Given the description of an element on the screen output the (x, y) to click on. 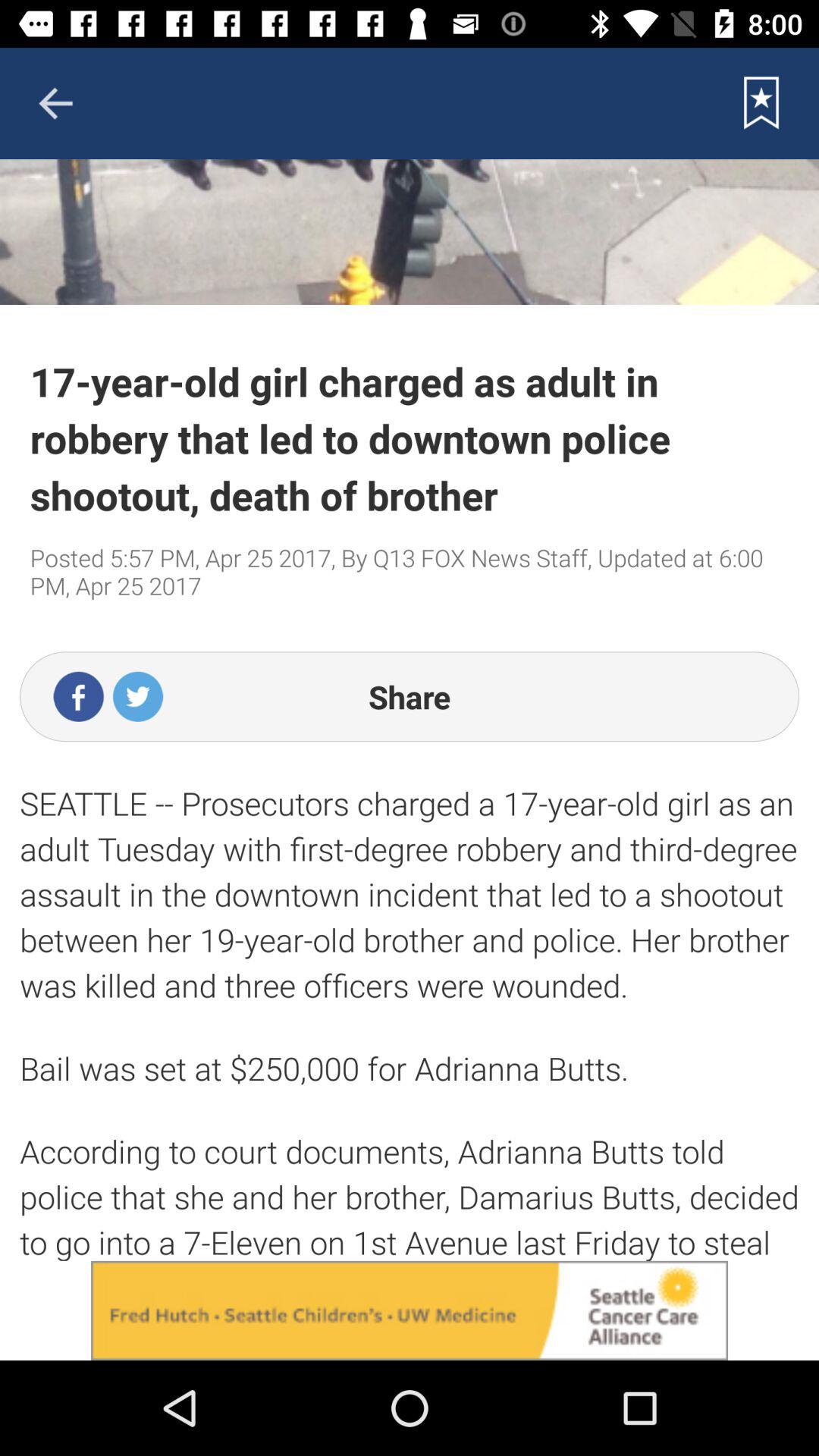
add to favorite tag (761, 102)
